Given the description of an element on the screen output the (x, y) to click on. 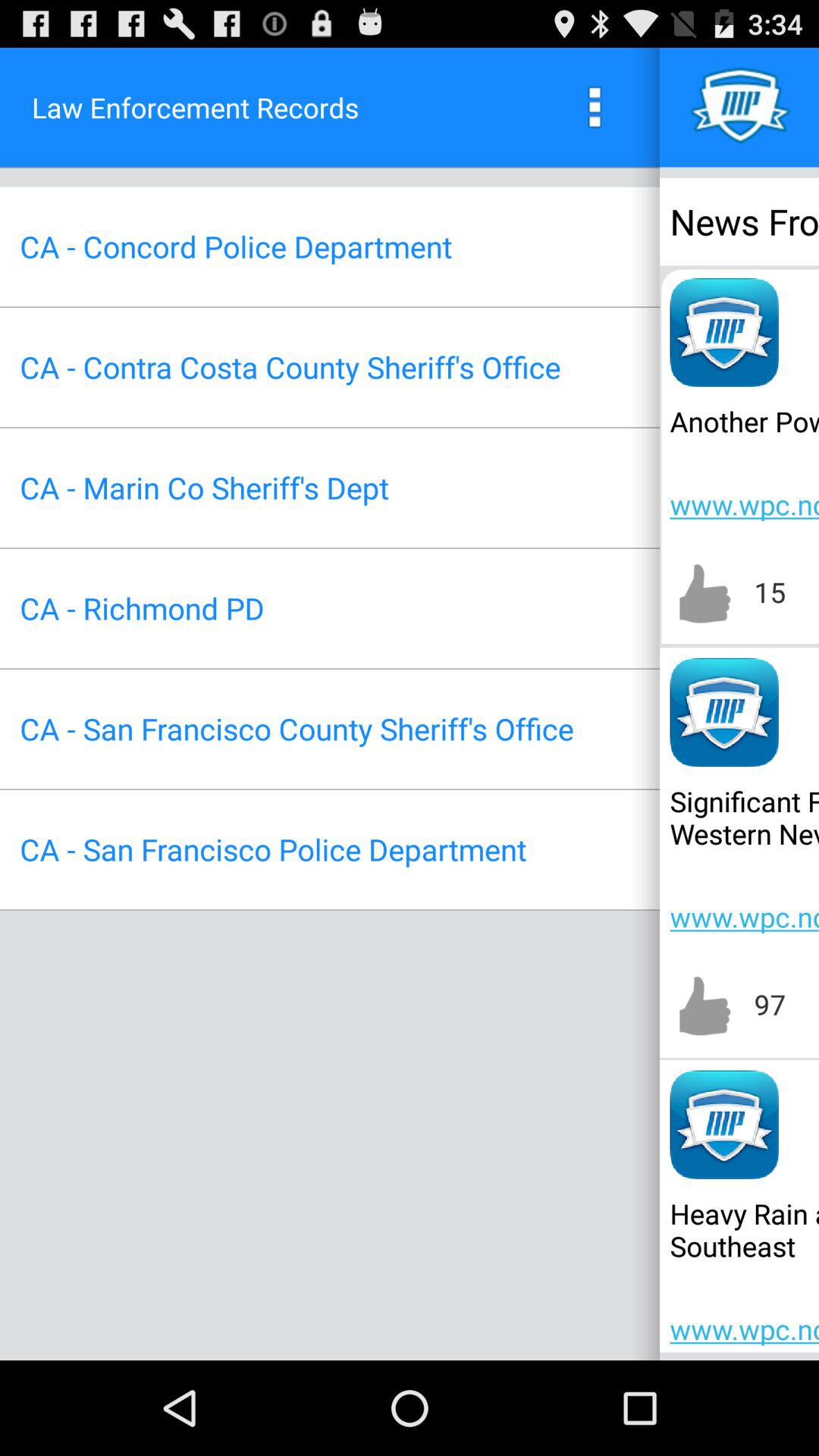
turn off the ca marin co app (204, 487)
